Given the description of an element on the screen output the (x, y) to click on. 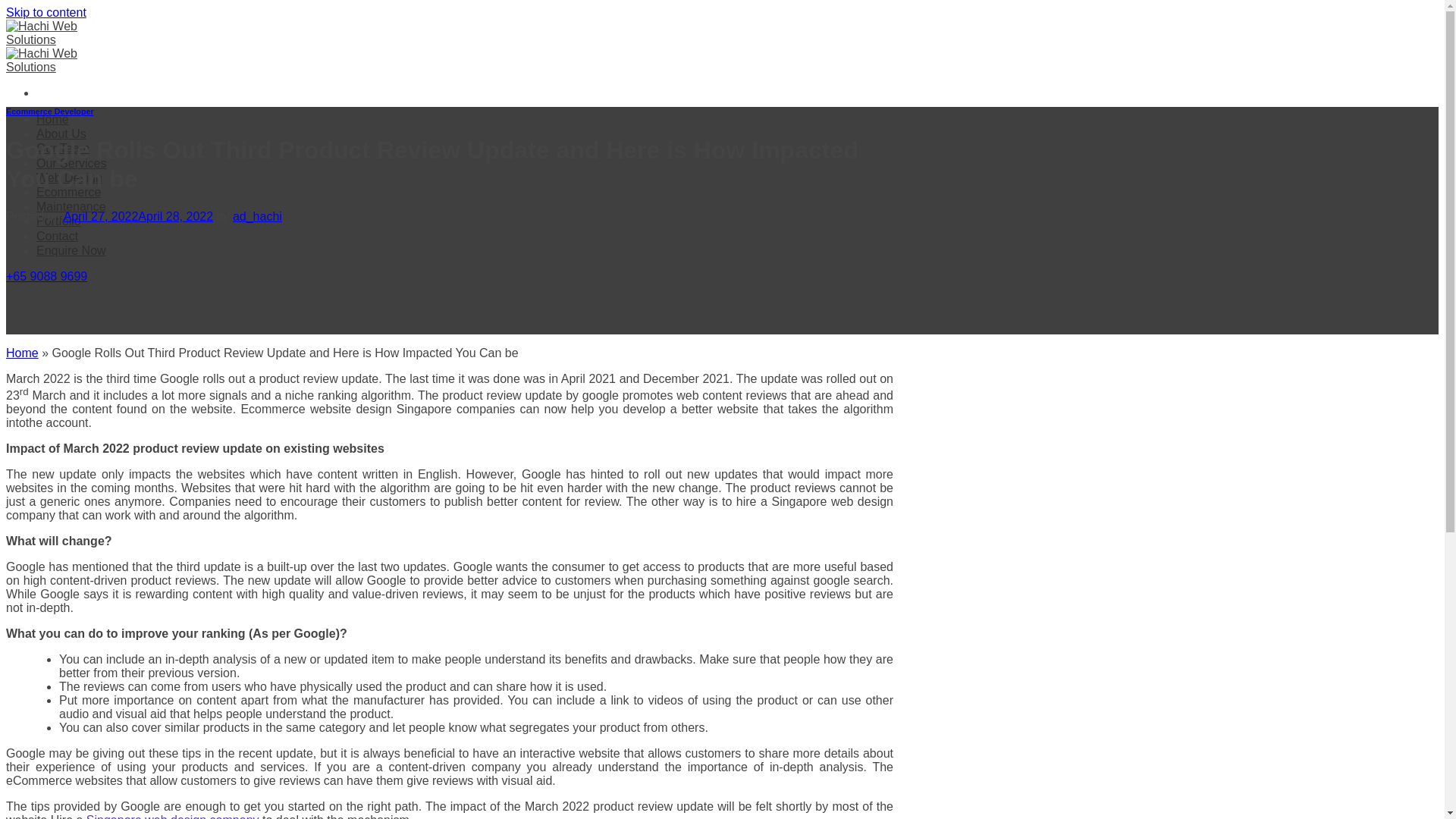
Our Services (71, 163)
April 27, 2022April 28, 2022 (138, 215)
Ecommerce (68, 192)
Maintenance (71, 205)
Skip to content (45, 11)
About Us (60, 133)
Contact (57, 235)
Web Design (68, 177)
Our Team (62, 147)
Enquire Now (71, 250)
